Given the description of an element on the screen output the (x, y) to click on. 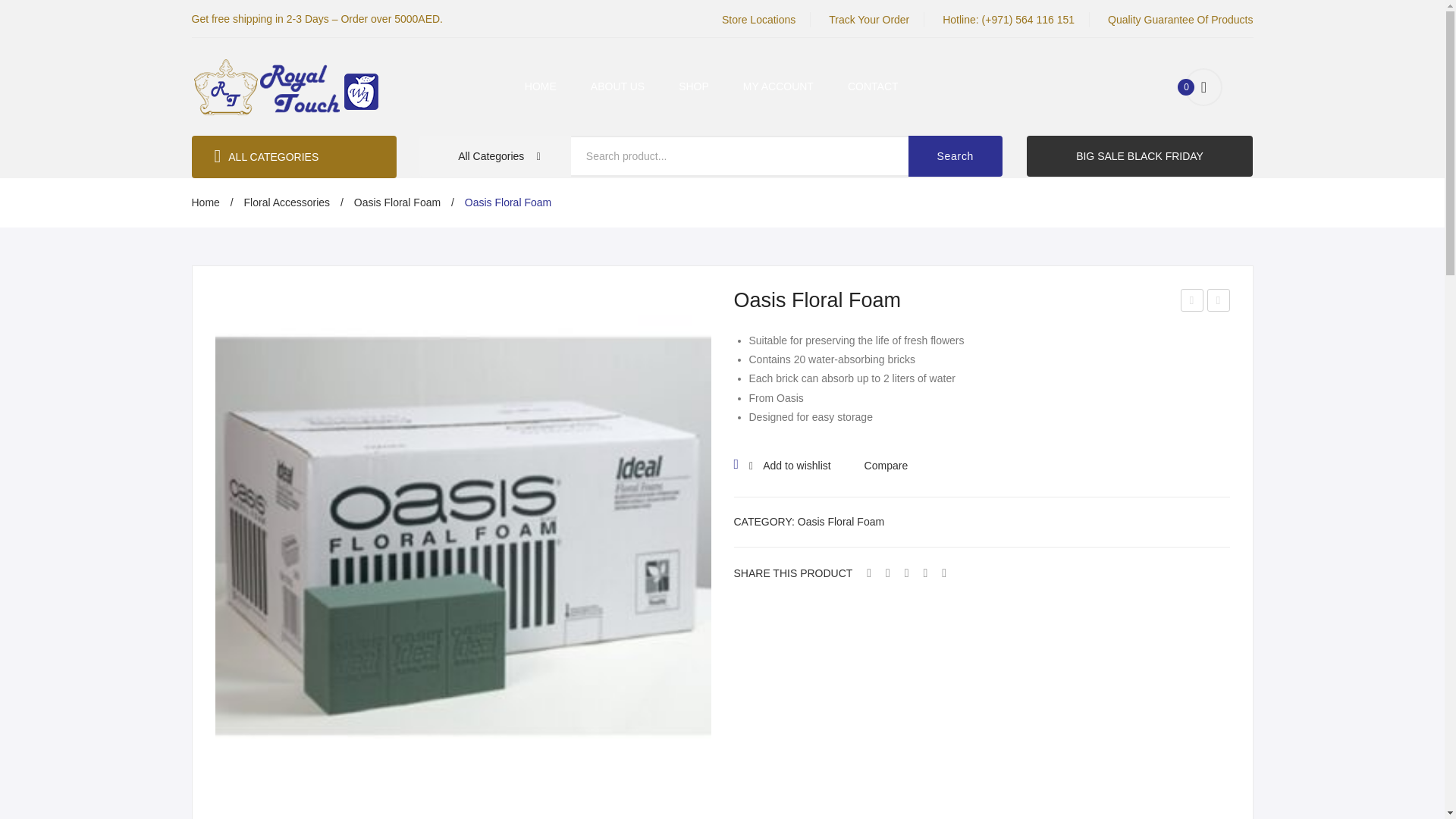
Track Your Order (868, 19)
MY ACCOUNT (777, 87)
CONTACT (872, 87)
HOME (540, 87)
ABOUT US (618, 87)
0 (1204, 86)
Store Locations (758, 19)
Royal Touch (285, 85)
SHOP (693, 87)
